Given the description of an element on the screen output the (x, y) to click on. 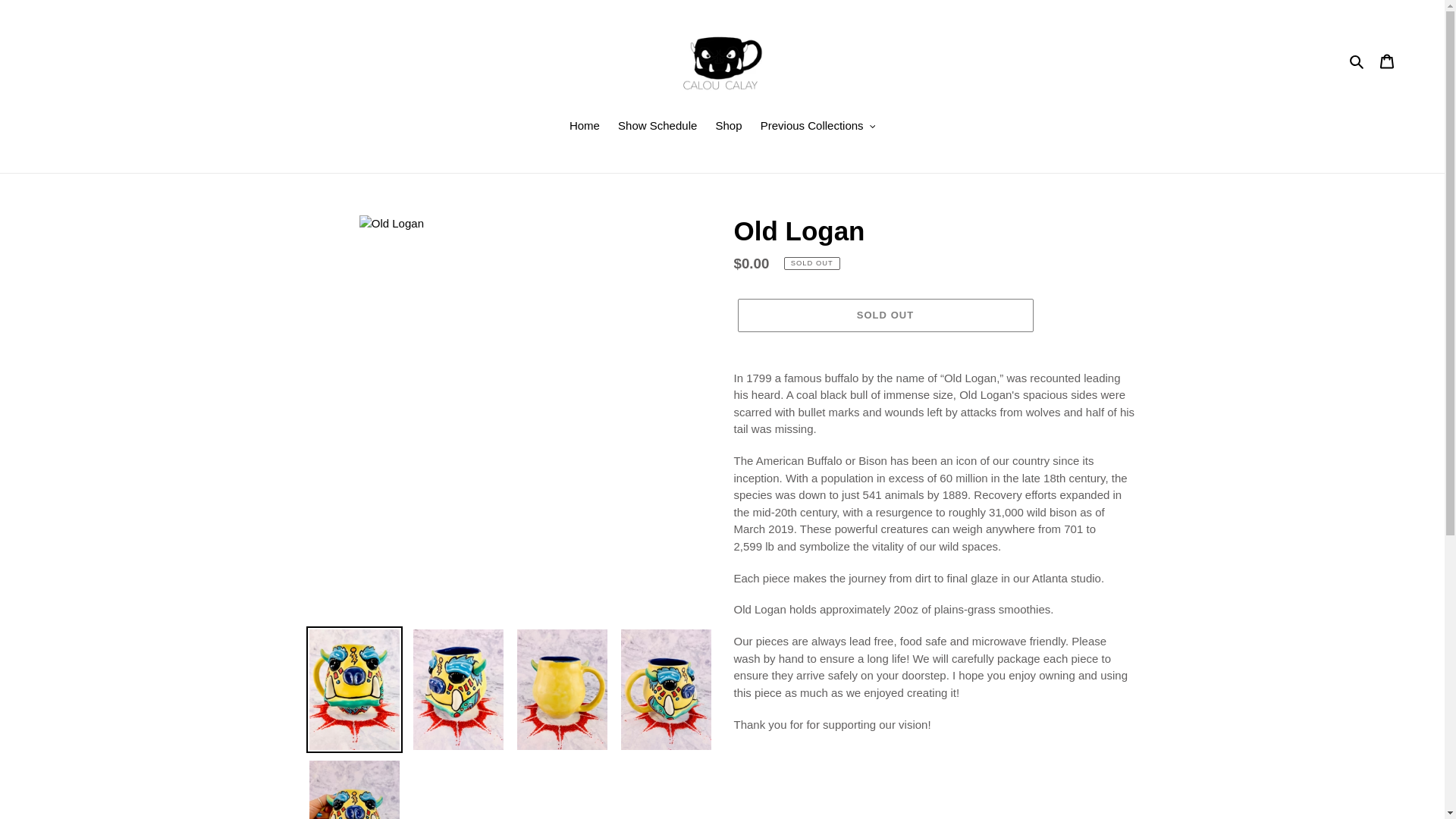
Previous Collections (817, 127)
Shop (728, 127)
Home (584, 127)
Search (1357, 60)
Cart (1387, 60)
Show Schedule (657, 127)
